Given the description of an element on the screen output the (x, y) to click on. 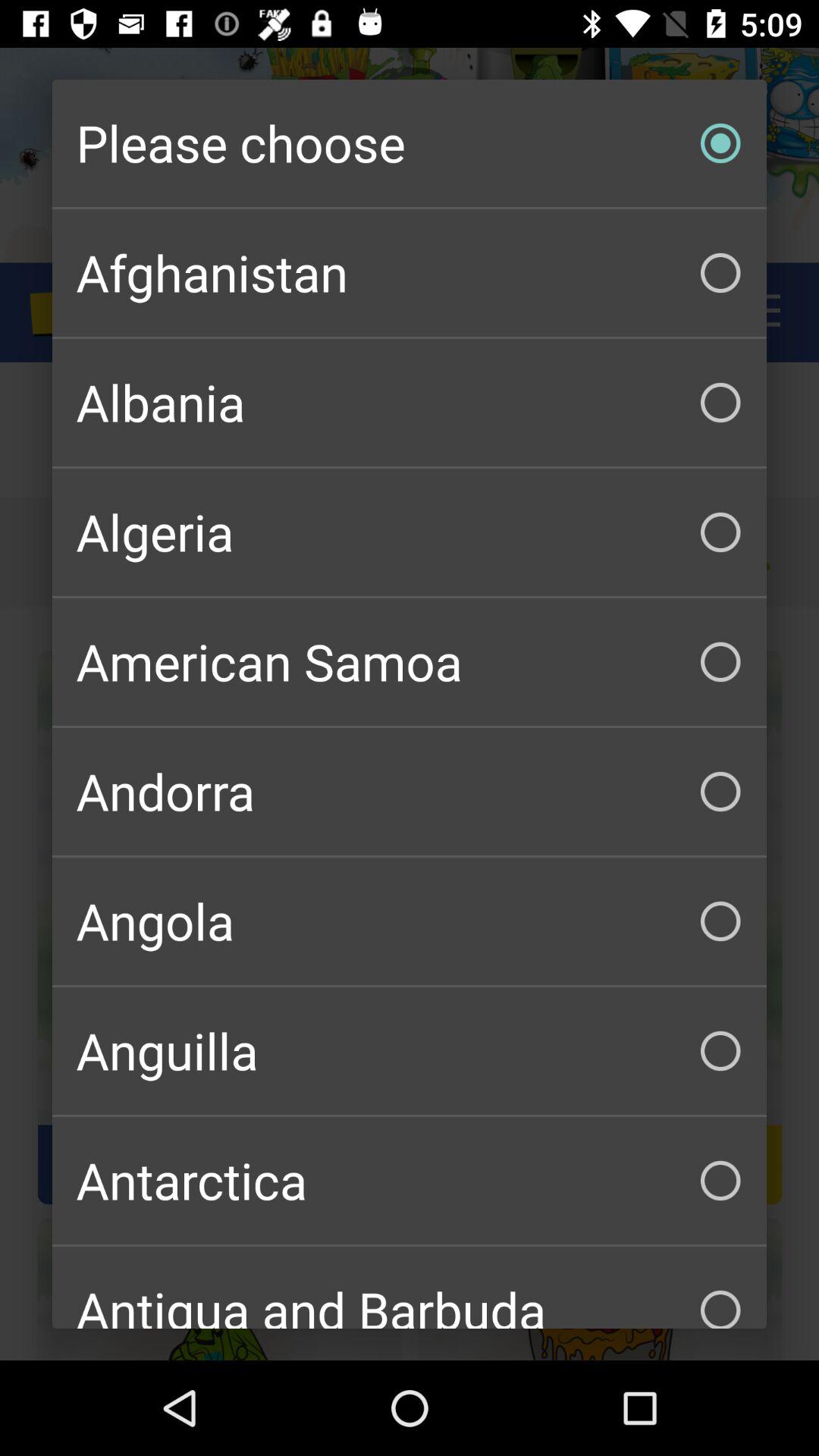
swipe to angola (409, 921)
